Given the description of an element on the screen output the (x, y) to click on. 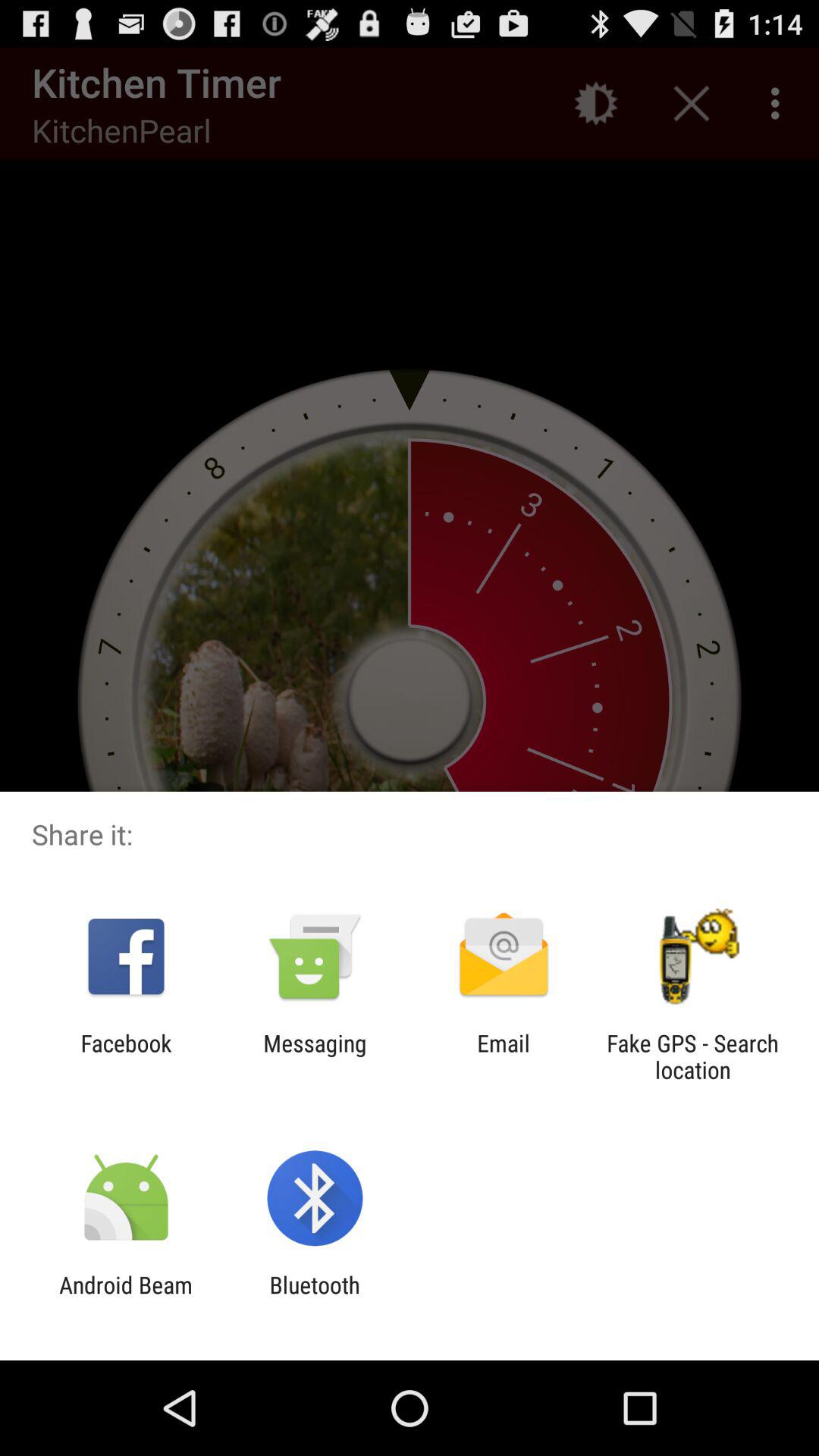
flip until the fake gps search item (692, 1056)
